Given the description of an element on the screen output the (x, y) to click on. 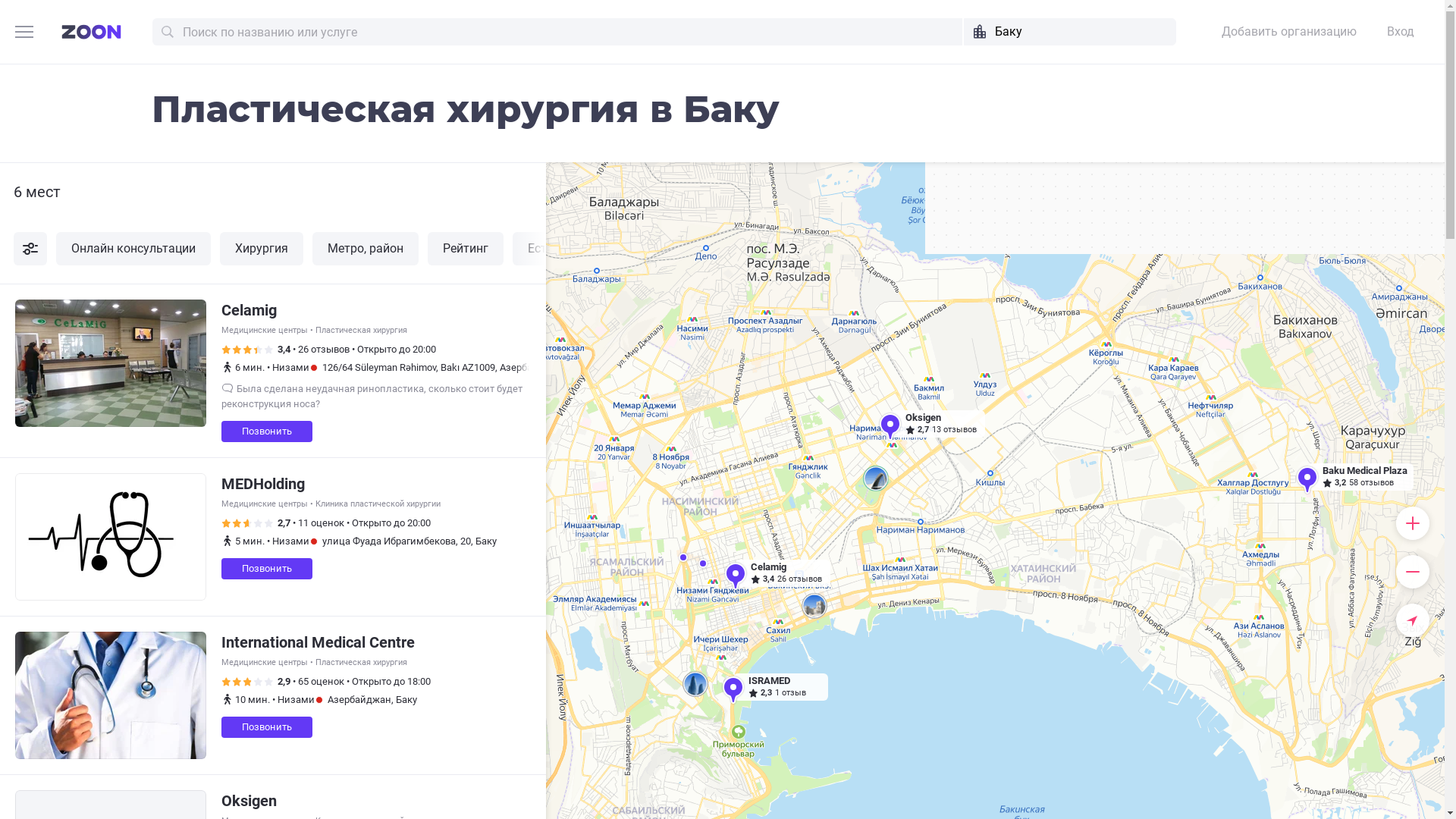
Celamig Element type: text (248, 310)
International Medical Centre Element type: text (317, 642)
Oksigen Element type: text (248, 800)
MEDHolding Element type: text (262, 483)
